Given the description of an element on the screen output the (x, y) to click on. 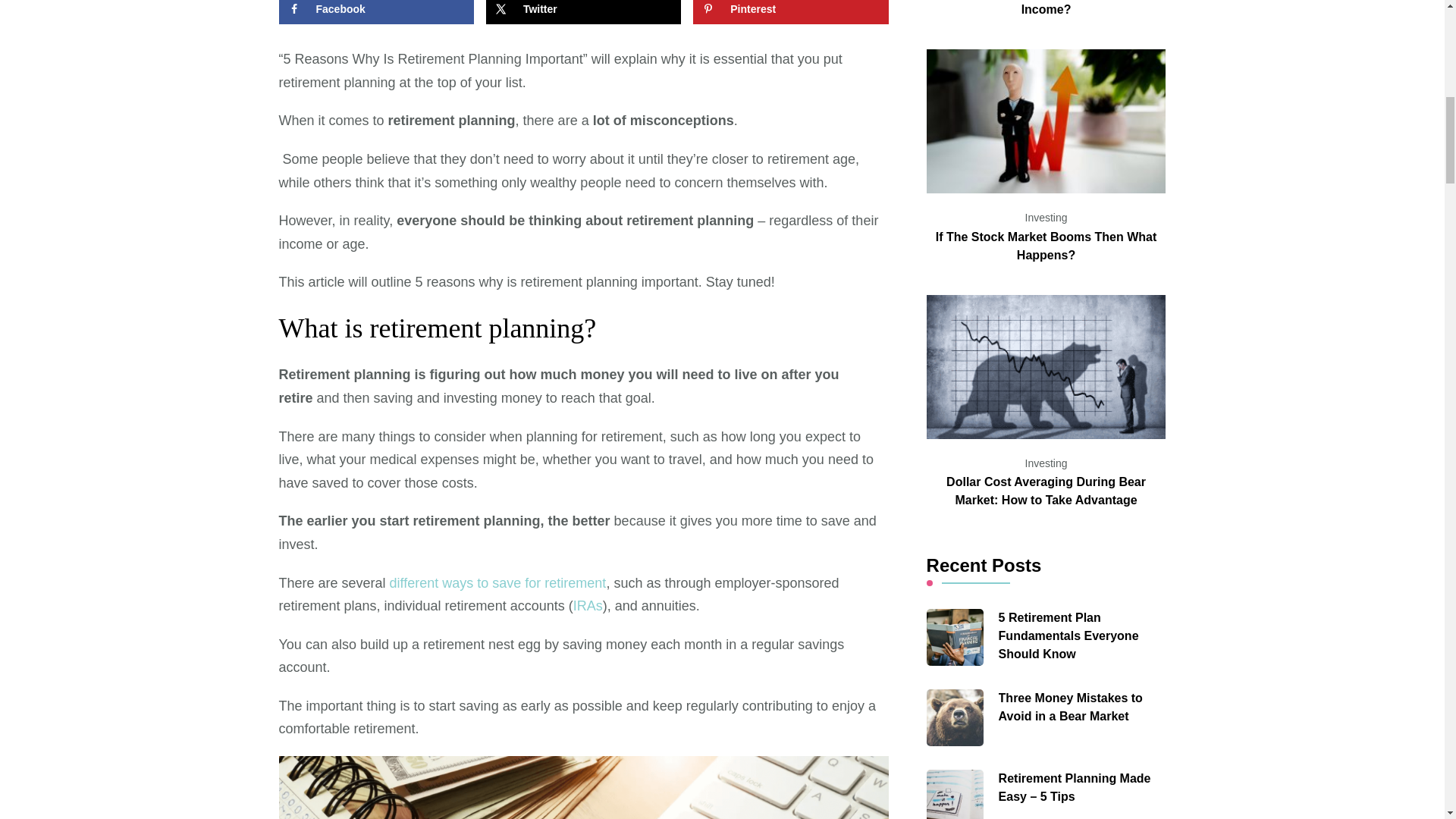
Share on X (583, 12)
different ways to save for retirement (498, 582)
Share on Facebook (376, 12)
Save to Pinterest (790, 12)
Pinterest (790, 12)
IRAs (587, 605)
Facebook (376, 12)
Twitter (583, 12)
